Given the description of an element on the screen output the (x, y) to click on. 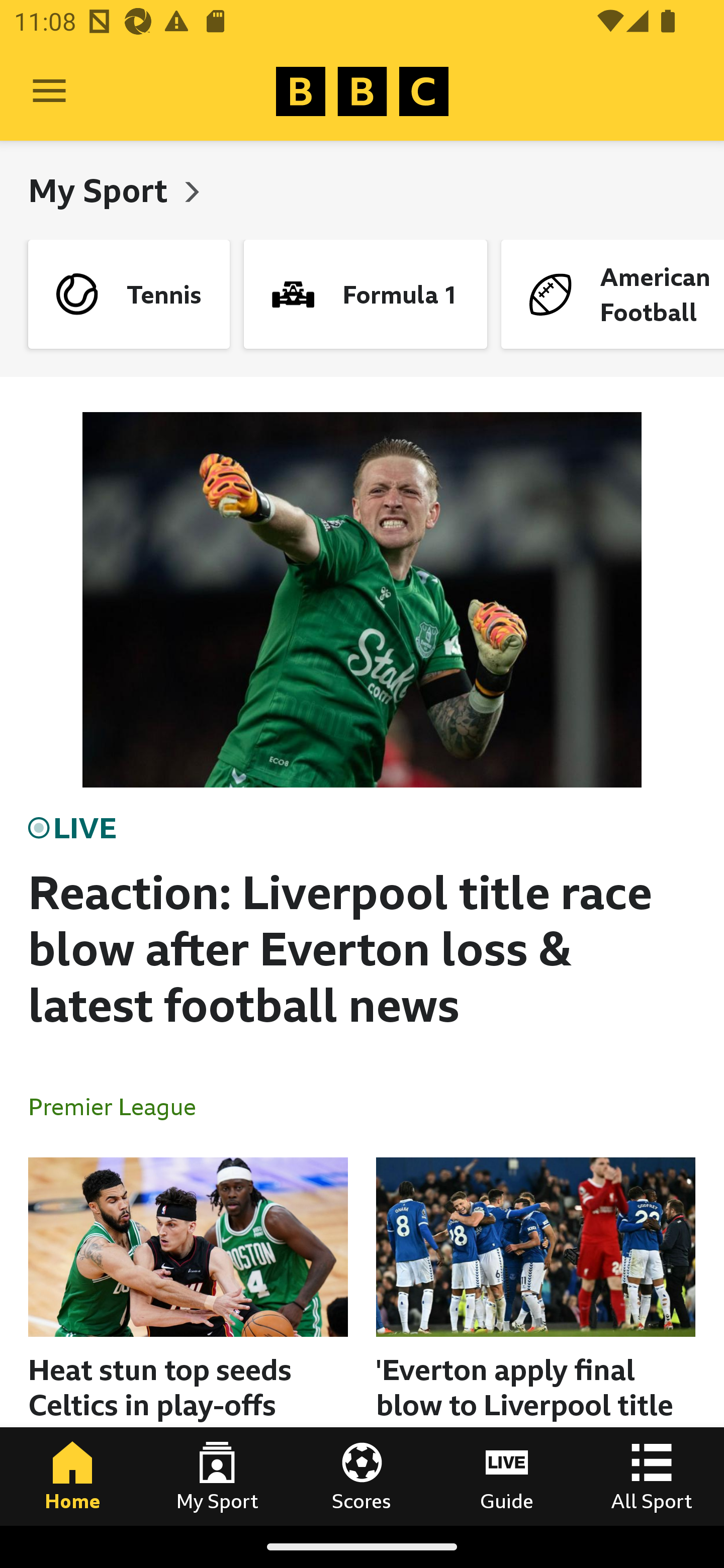
Open Menu (49, 91)
My Sport (101, 190)
Premier League In the section Premier League (119, 1106)
My Sport (216, 1475)
Scores (361, 1475)
Guide (506, 1475)
All Sport (651, 1475)
